Given the description of an element on the screen output the (x, y) to click on. 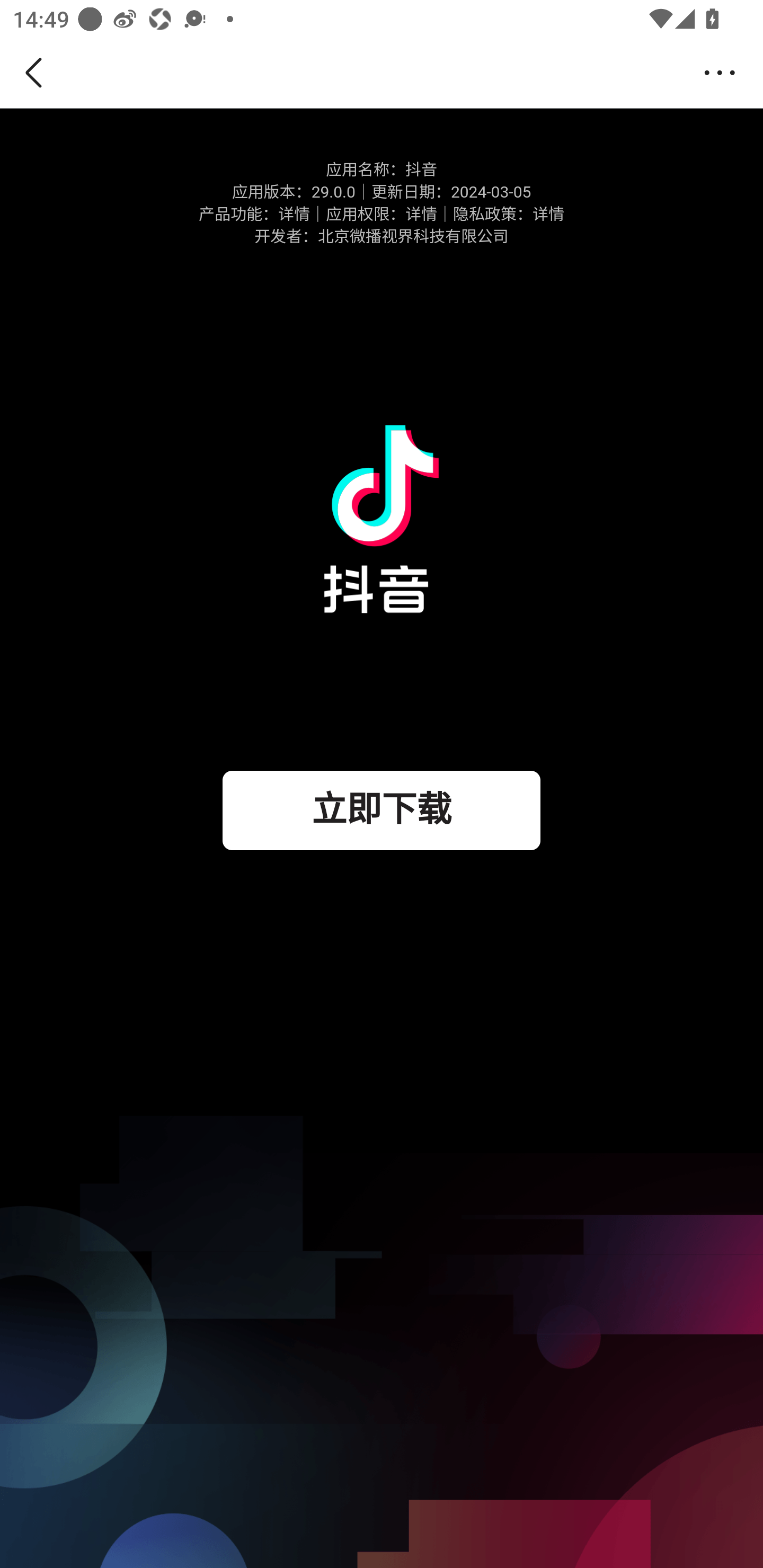
返回，按钮 (37, 72)
更多 (725, 72)
立即下载 (381, 810)
